Given the description of an element on the screen output the (x, y) to click on. 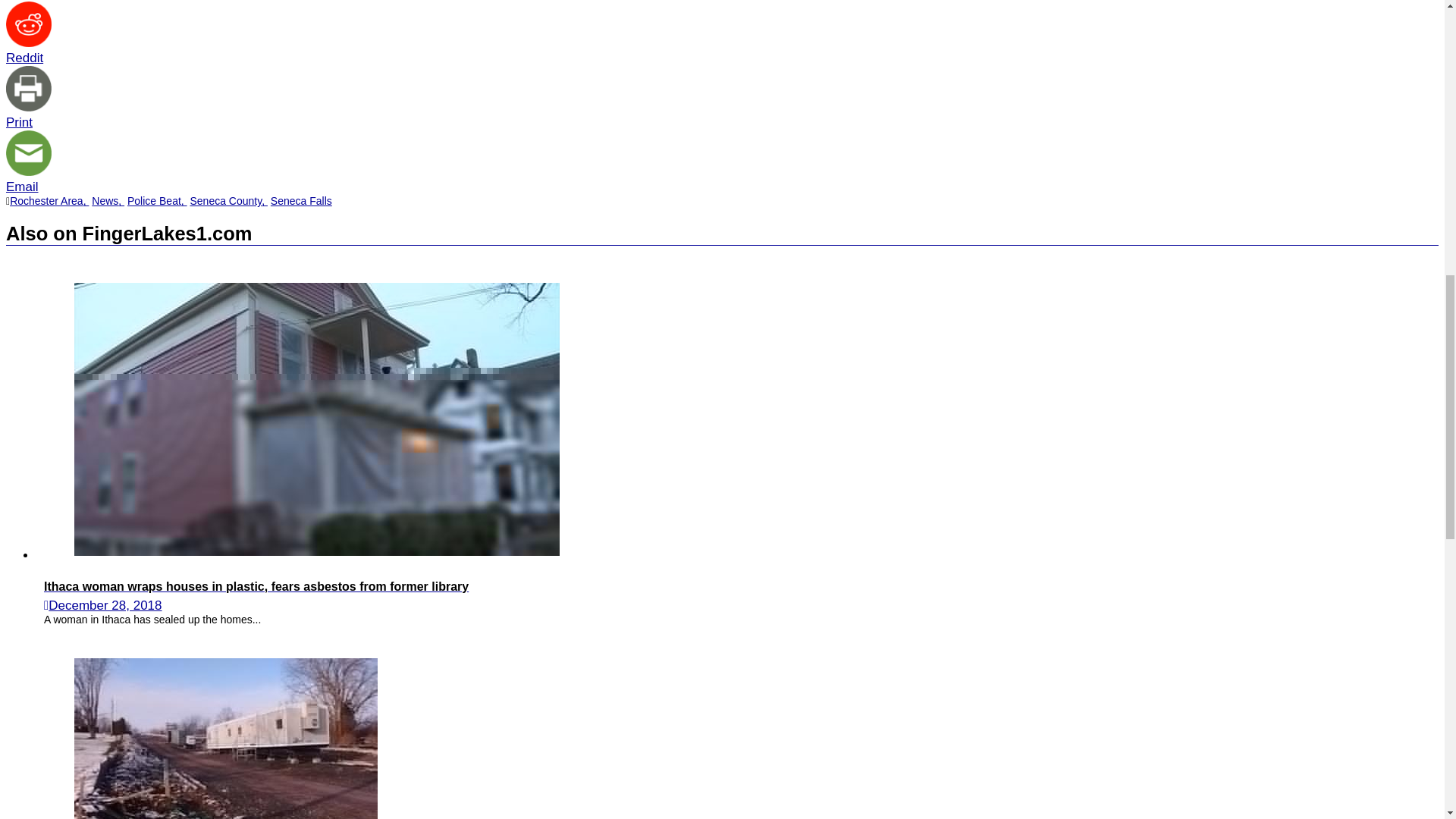
reddit (27, 23)
Police Beat (157, 200)
News (107, 200)
Rochester Area (49, 200)
Seneca County (227, 200)
December 28, 2018 (104, 605)
Seneca Falls (300, 200)
